Given the description of an element on the screen output the (x, y) to click on. 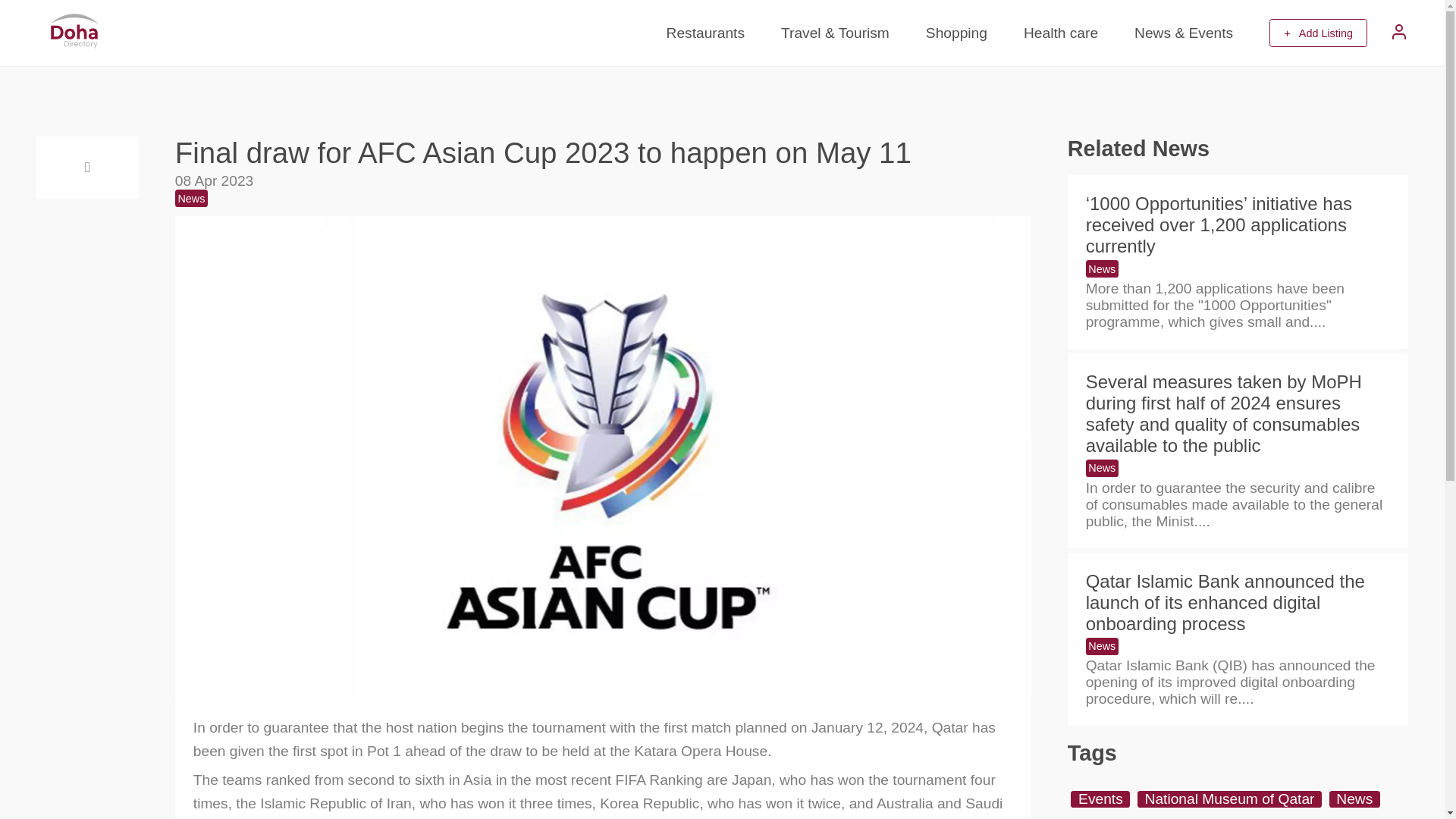
News (1102, 268)
News (1102, 646)
Restaurants (705, 32)
News (1354, 799)
News (1102, 467)
News (191, 198)
National Museum of Qatar (1229, 799)
Shopping (956, 32)
Events (1099, 799)
Health care (1060, 32)
